Given the description of an element on the screen output the (x, y) to click on. 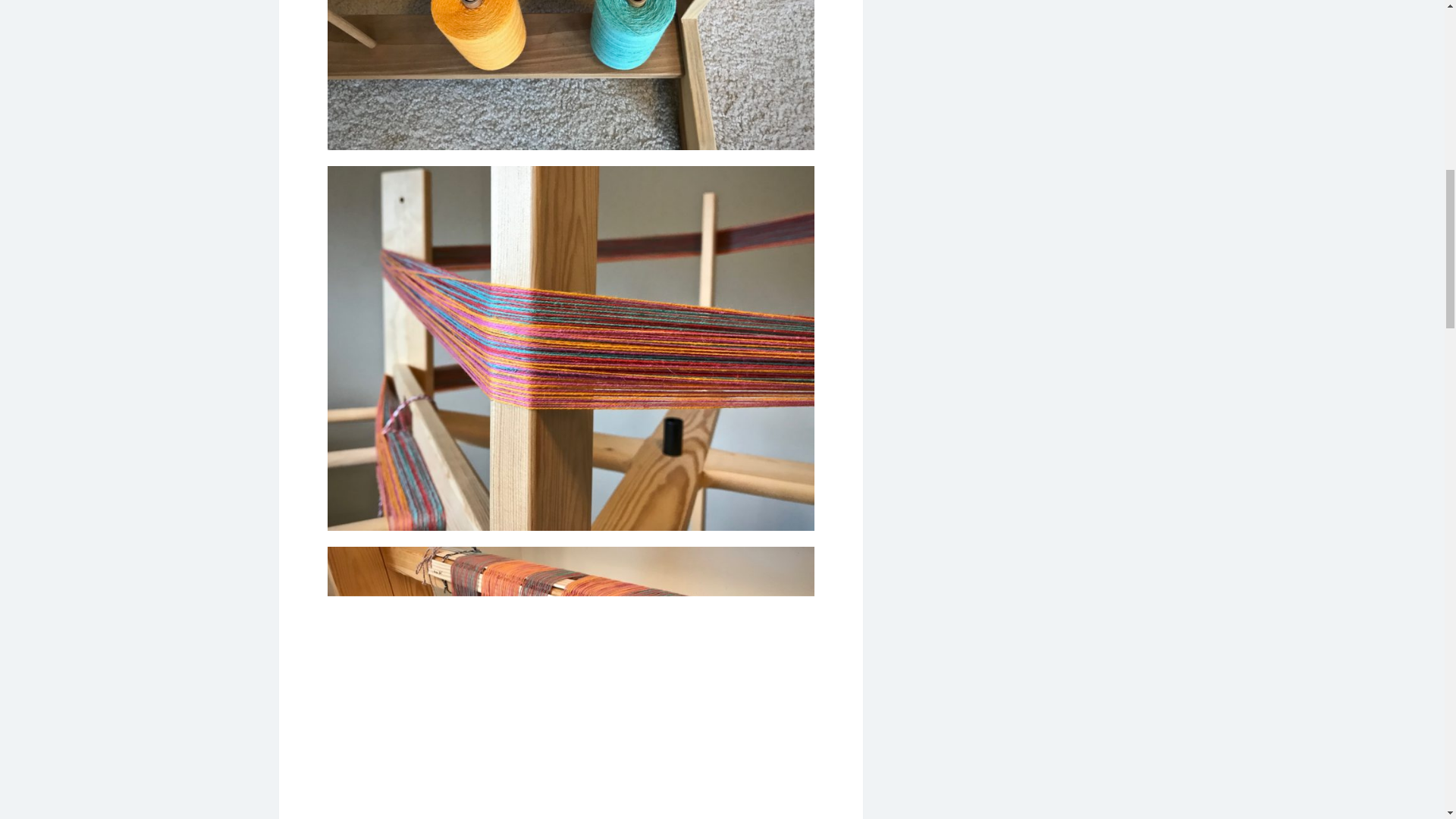
Colors (569, 74)
